Given the description of an element on the screen output the (x, y) to click on. 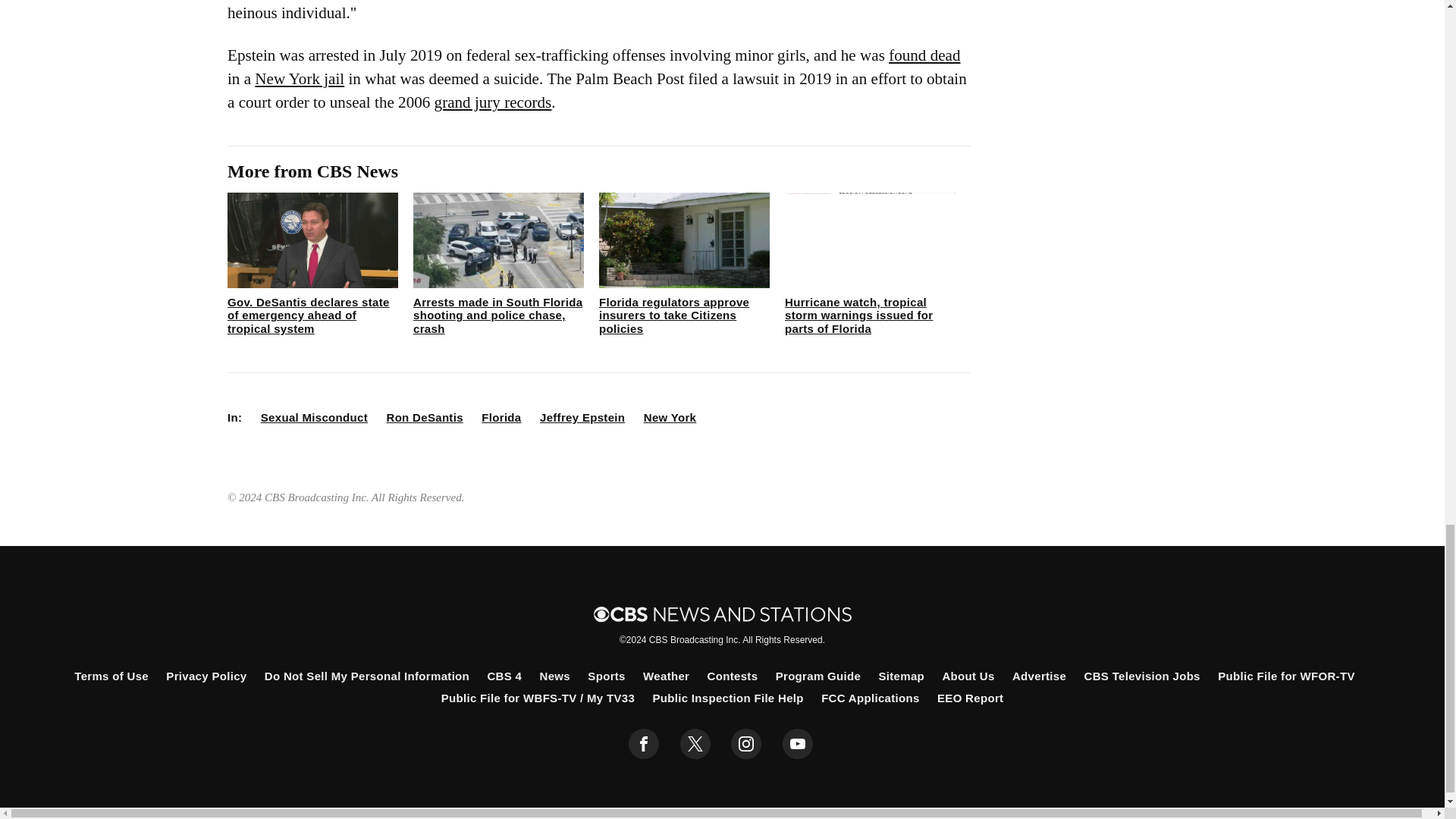
facebook (643, 743)
twitter (694, 743)
instagram (745, 743)
youtube (797, 743)
